Given the description of an element on the screen output the (x, y) to click on. 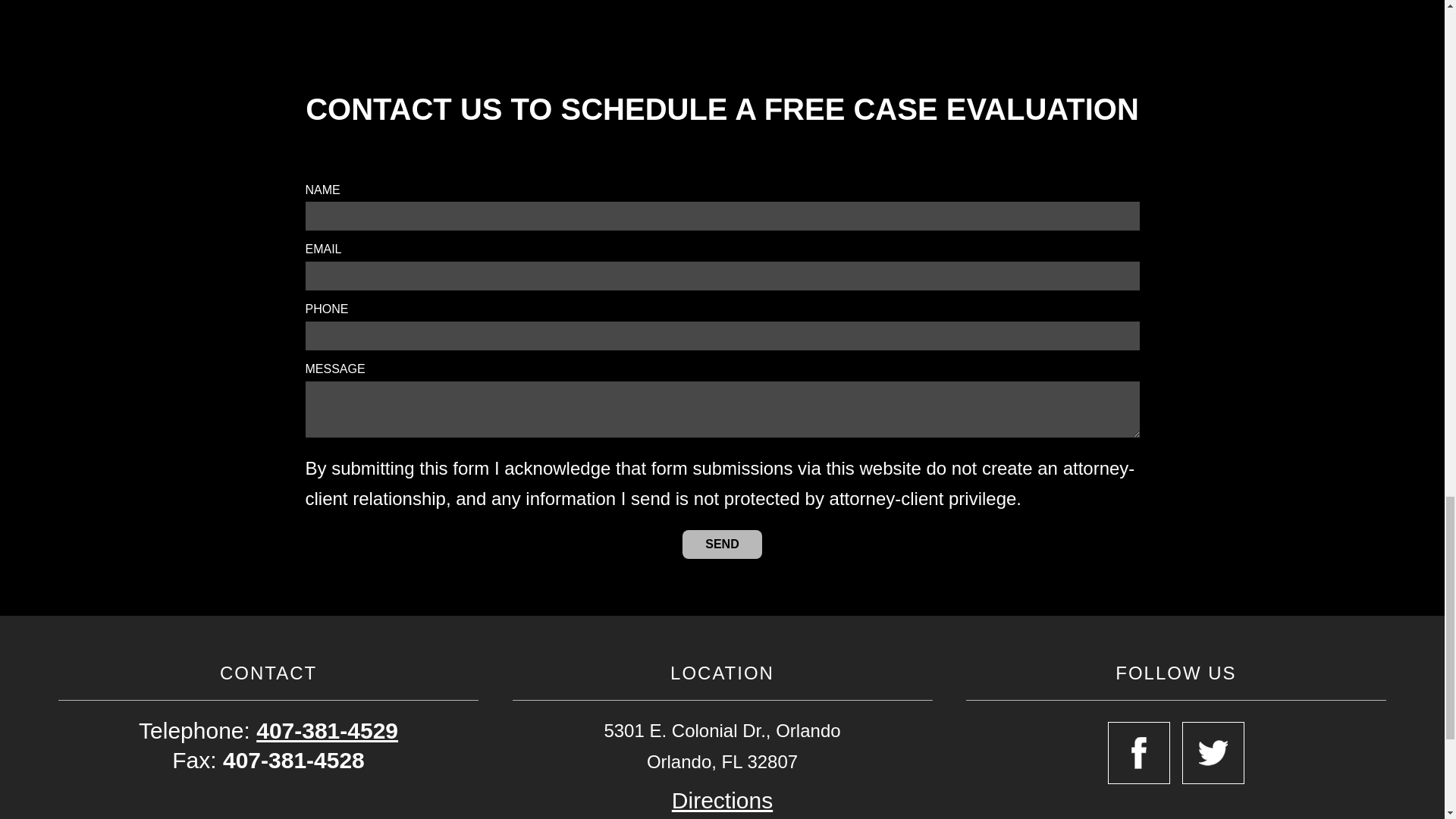
Open Google Map in a New Window (722, 799)
Send (721, 543)
Open Twitter in a New Window (1213, 752)
Open Facebook in a New Window (1139, 752)
